Given the description of an element on the screen output the (x, y) to click on. 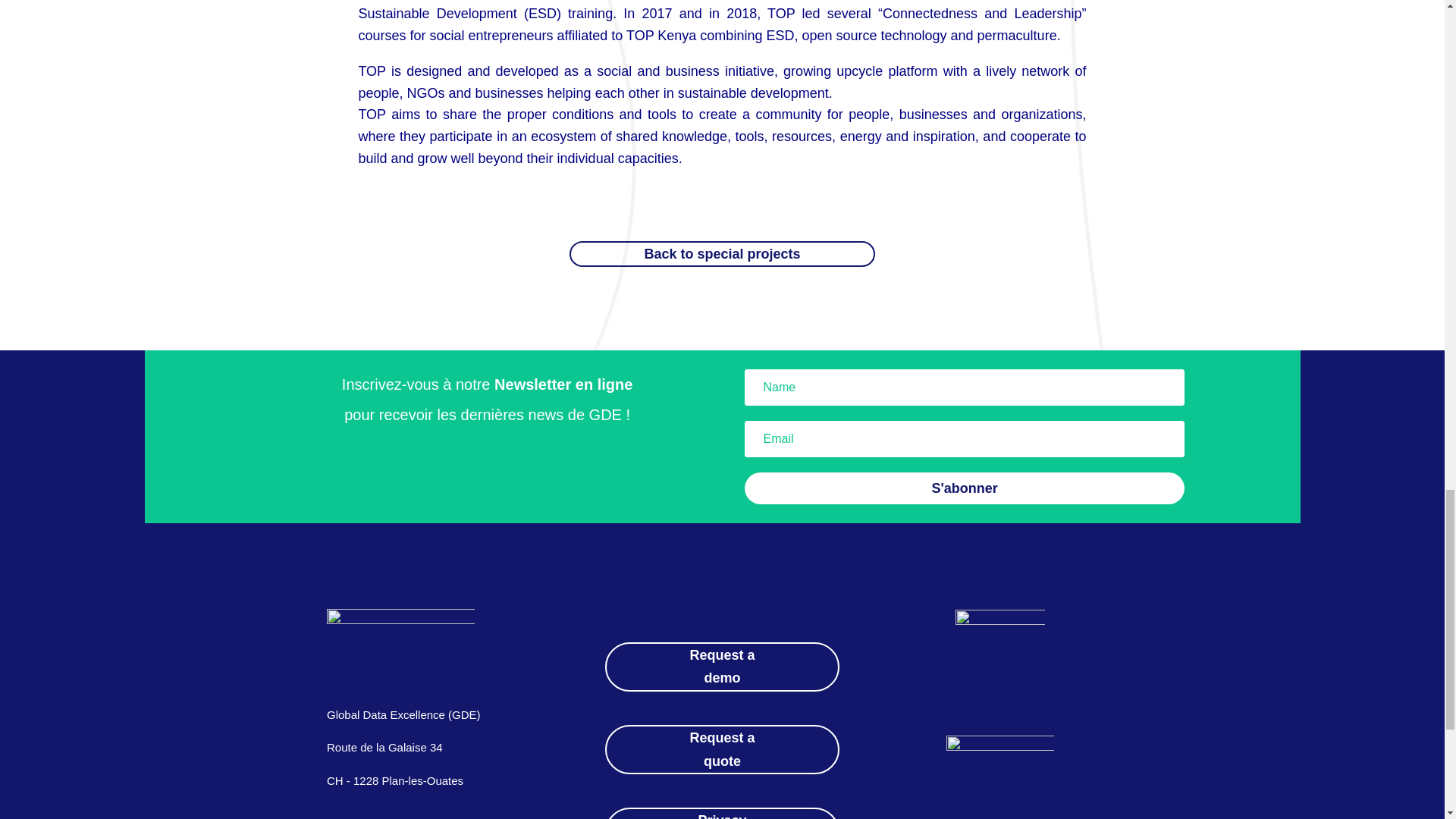
S'abonner (964, 487)
Request a quote (722, 748)
Request a demo (722, 666)
Privacy policies (722, 813)
Back to special projects (722, 253)
